Given the description of an element on the screen output the (x, y) to click on. 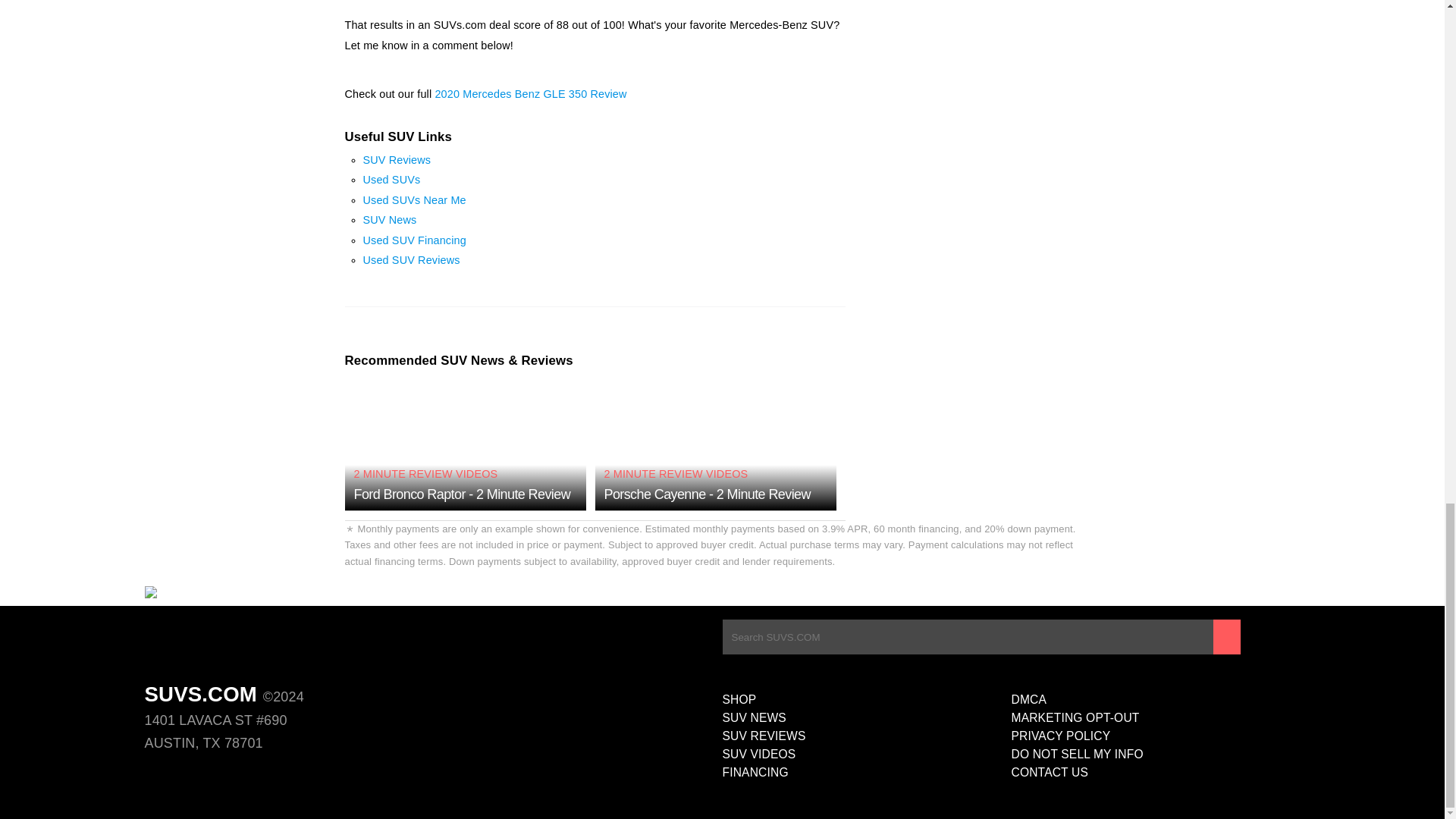
Used SUV Reviews (411, 259)
SUV Reviews (396, 159)
SUV VIDEOS (866, 754)
Ford Bronco Raptor - 2 Minute Review (461, 494)
DMCA (1155, 700)
SUV NEWS (866, 718)
Used SUV Financing (413, 239)
Used SUVs (391, 179)
SHOP (866, 700)
SUV News (389, 219)
SUV REVIEWS (866, 736)
FINANCING (866, 772)
2020 Mercedes Benz GLE 350 Review (529, 93)
CONTACT US (1155, 772)
SUV news, reviews, and used cars for sale. (219, 595)
